Given the description of an element on the screen output the (x, y) to click on. 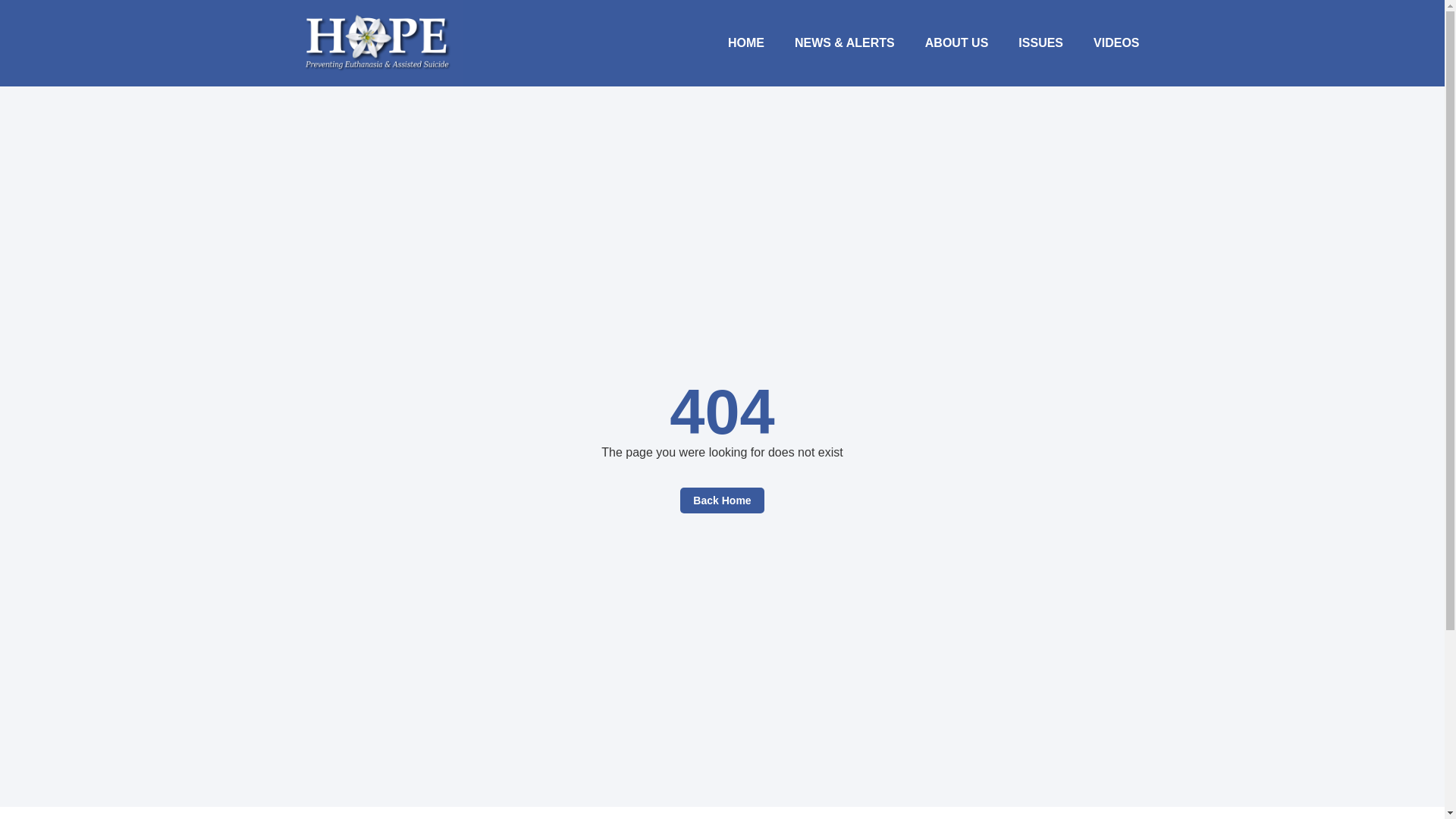
HOME (745, 42)
ABOUT US (957, 42)
ISSUES (1040, 42)
Back Home (720, 500)
VIDEOS (1116, 42)
